Given the description of an element on the screen output the (x, y) to click on. 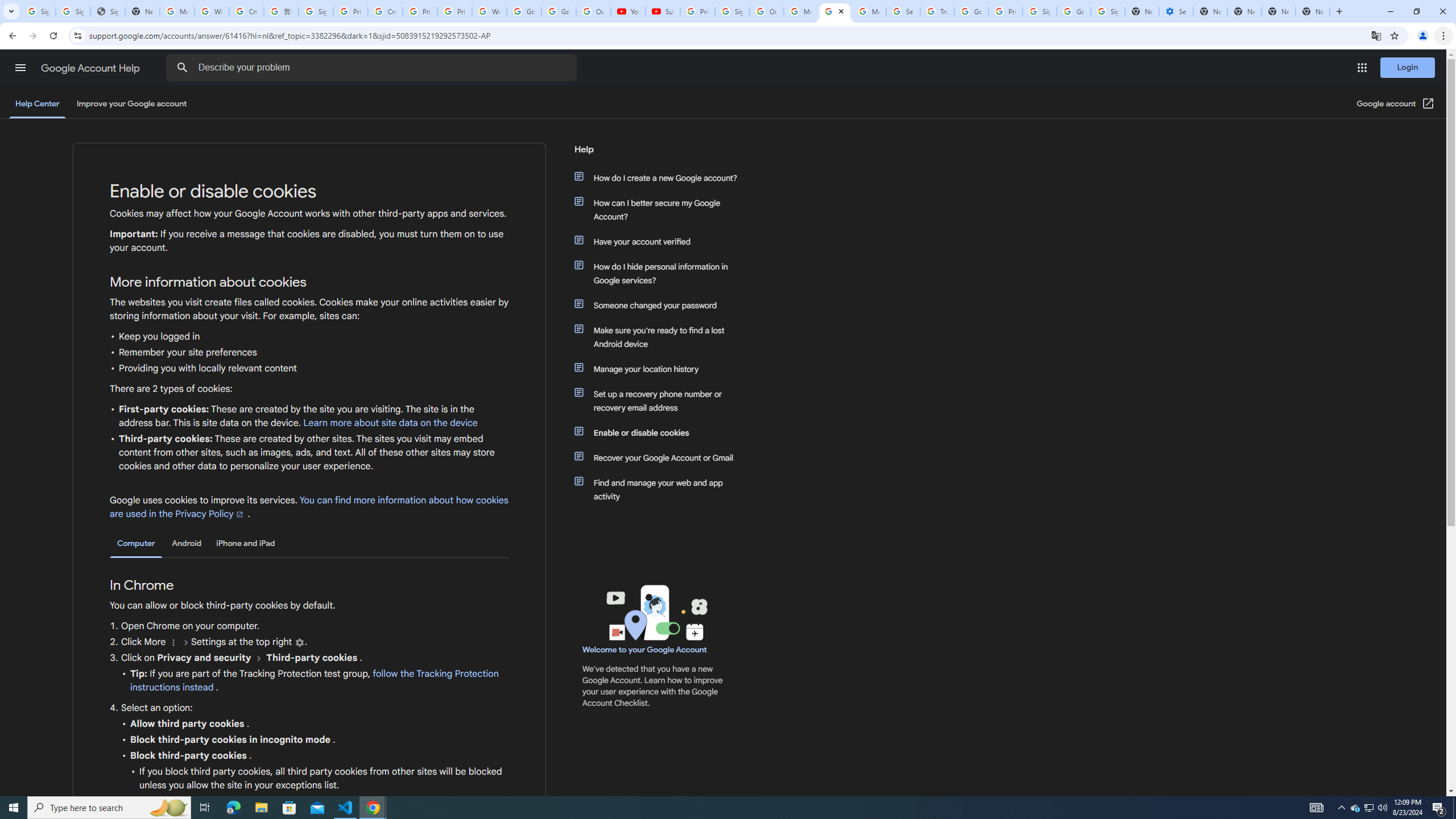
Describe your problem (373, 67)
Make sure you're ready to find a lost Android device (661, 336)
Sign in - Google Accounts (1107, 11)
Subscriptions - YouTube (662, 11)
Create your Google Account (384, 11)
How do I create a new Google account? (661, 177)
